Given the description of an element on the screen output the (x, y) to click on. 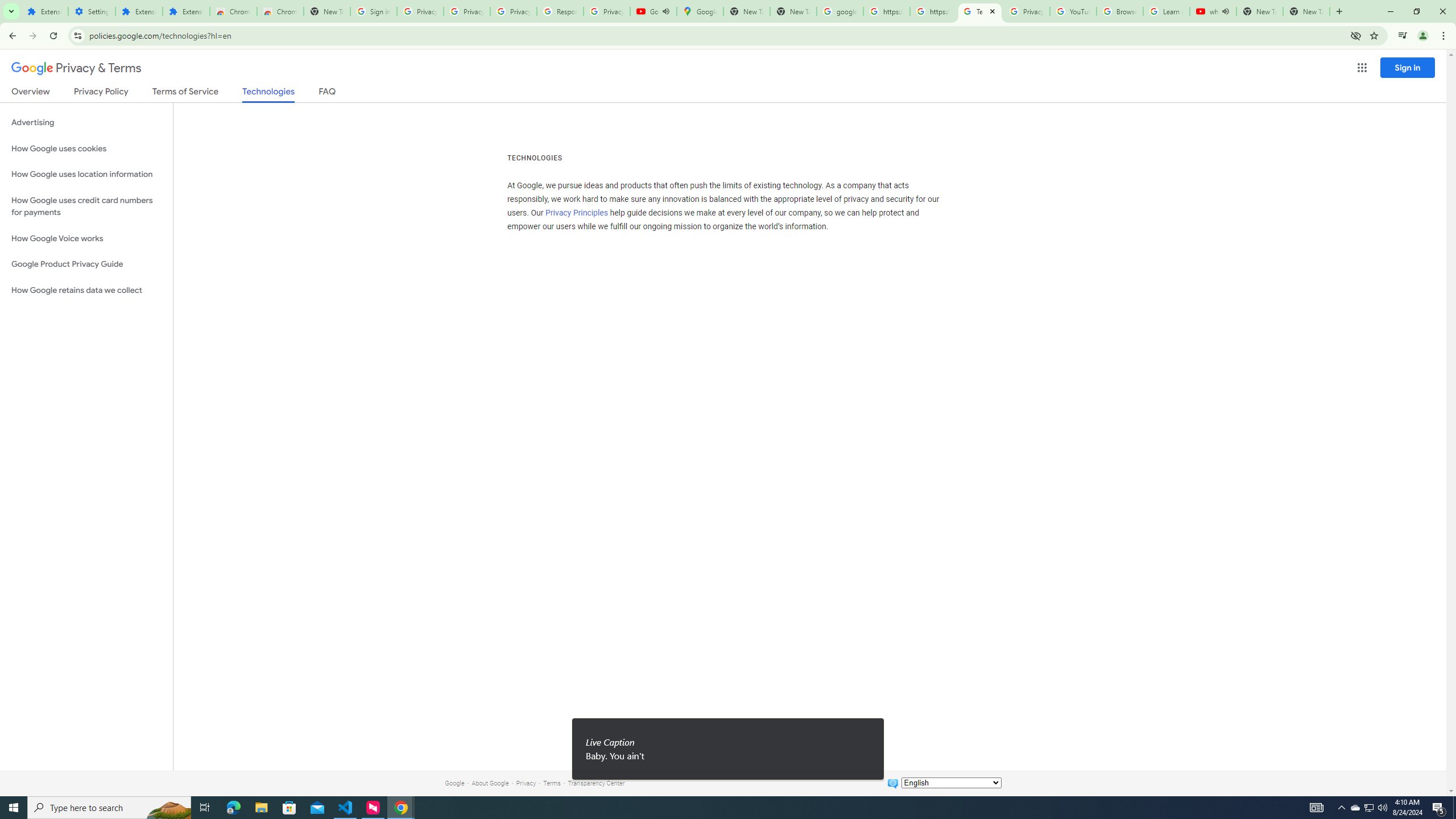
Extensions (138, 11)
YouTube (1073, 11)
